Given the description of an element on the screen output the (x, y) to click on. 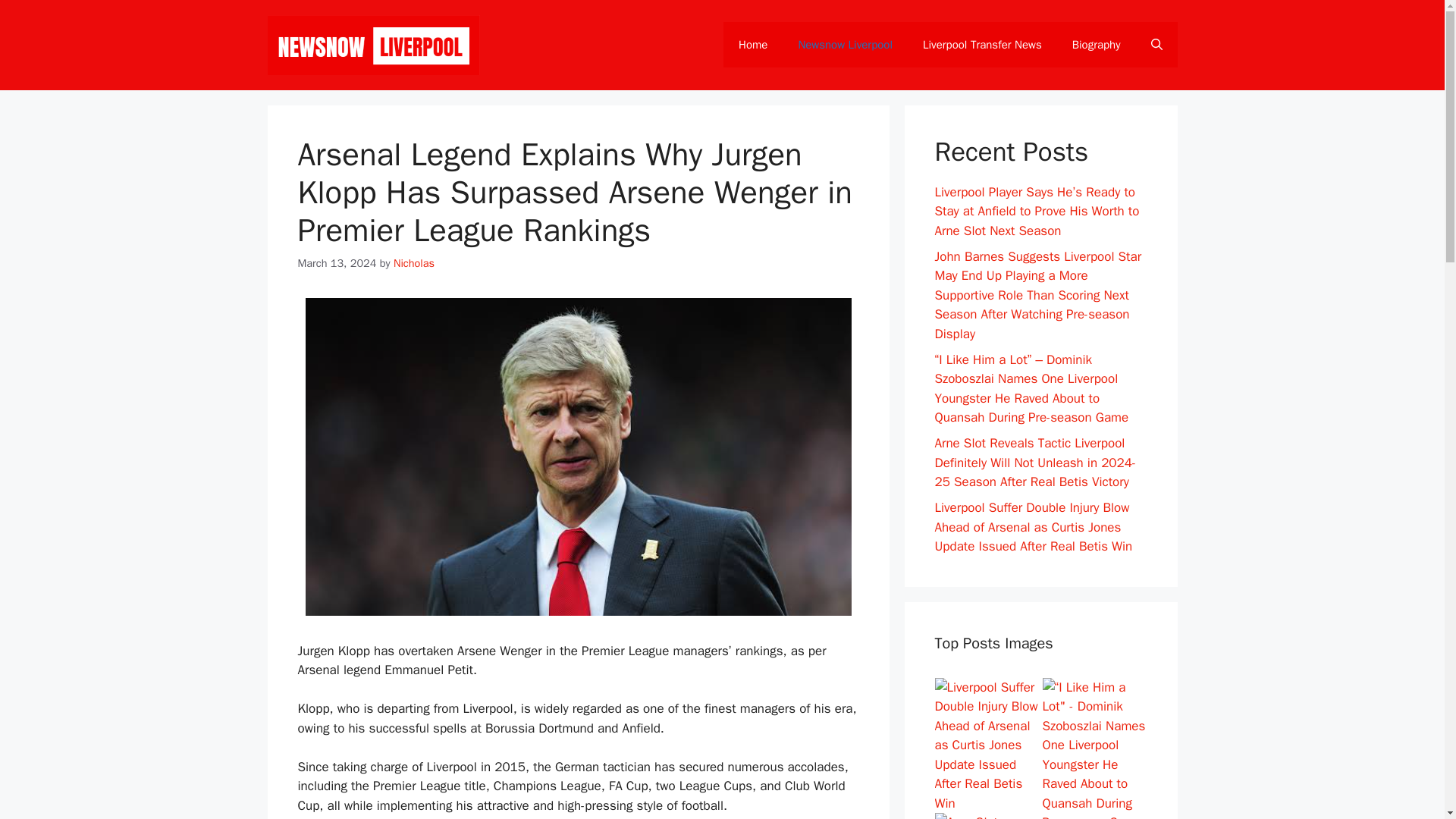
Home (753, 44)
Nicholas (413, 263)
Liverpool Transfer News (982, 44)
Newsnow Liverpool (845, 44)
Biography (1096, 44)
View all posts by Nicholas (413, 263)
